Given the description of an element on the screen output the (x, y) to click on. 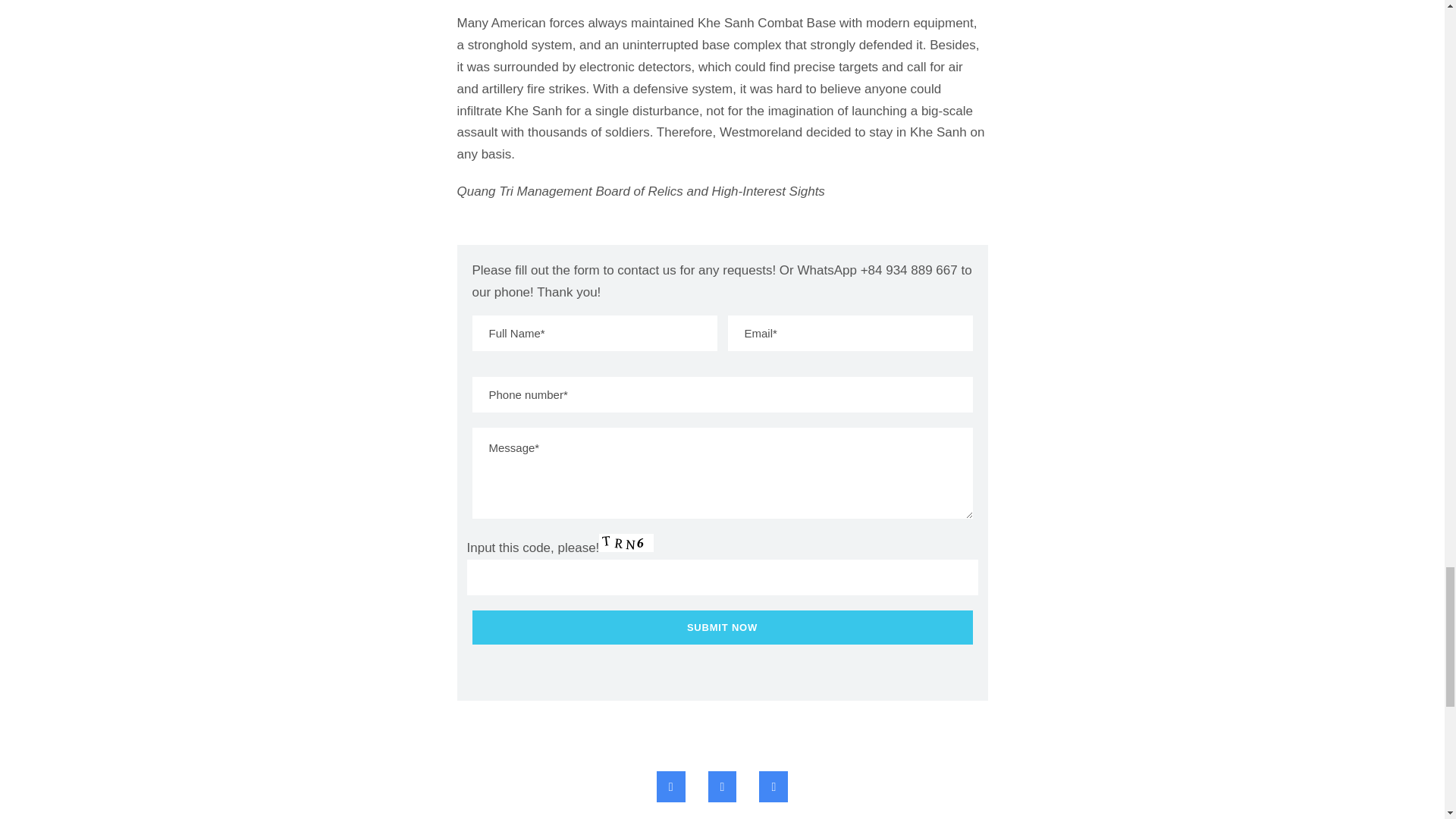
Submit Now (721, 627)
